Given the description of an element on the screen output the (x, y) to click on. 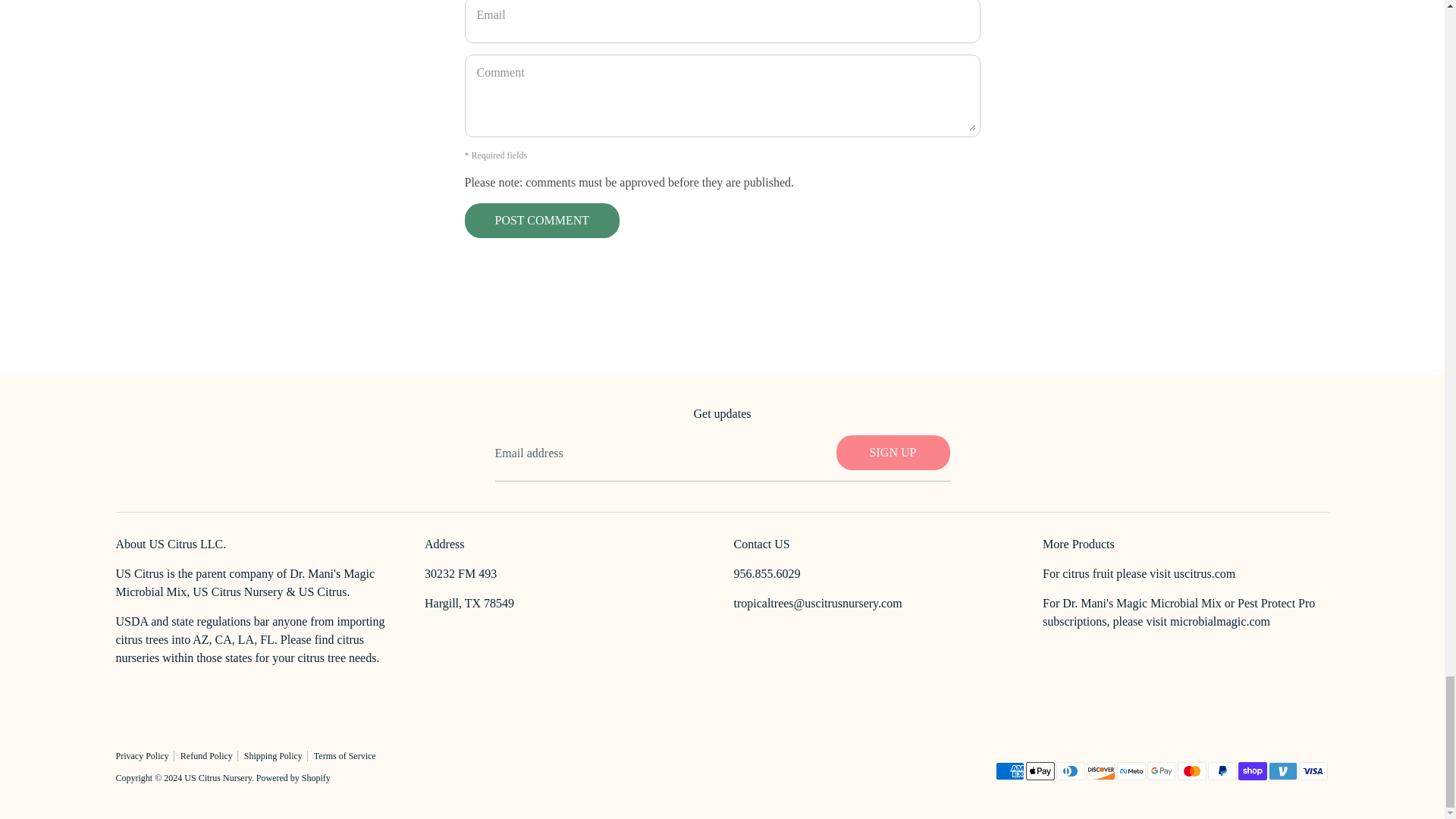
Shop Pay (1251, 771)
Apple Pay (1039, 771)
Diners Club (1069, 771)
Venmo (1282, 771)
Post comment (542, 220)
American Express (1008, 771)
PayPal (1221, 771)
Meta Pay (1130, 771)
Google Pay (1160, 771)
Mastercard (1190, 771)
Discover (1100, 771)
